Given the description of an element on the screen output the (x, y) to click on. 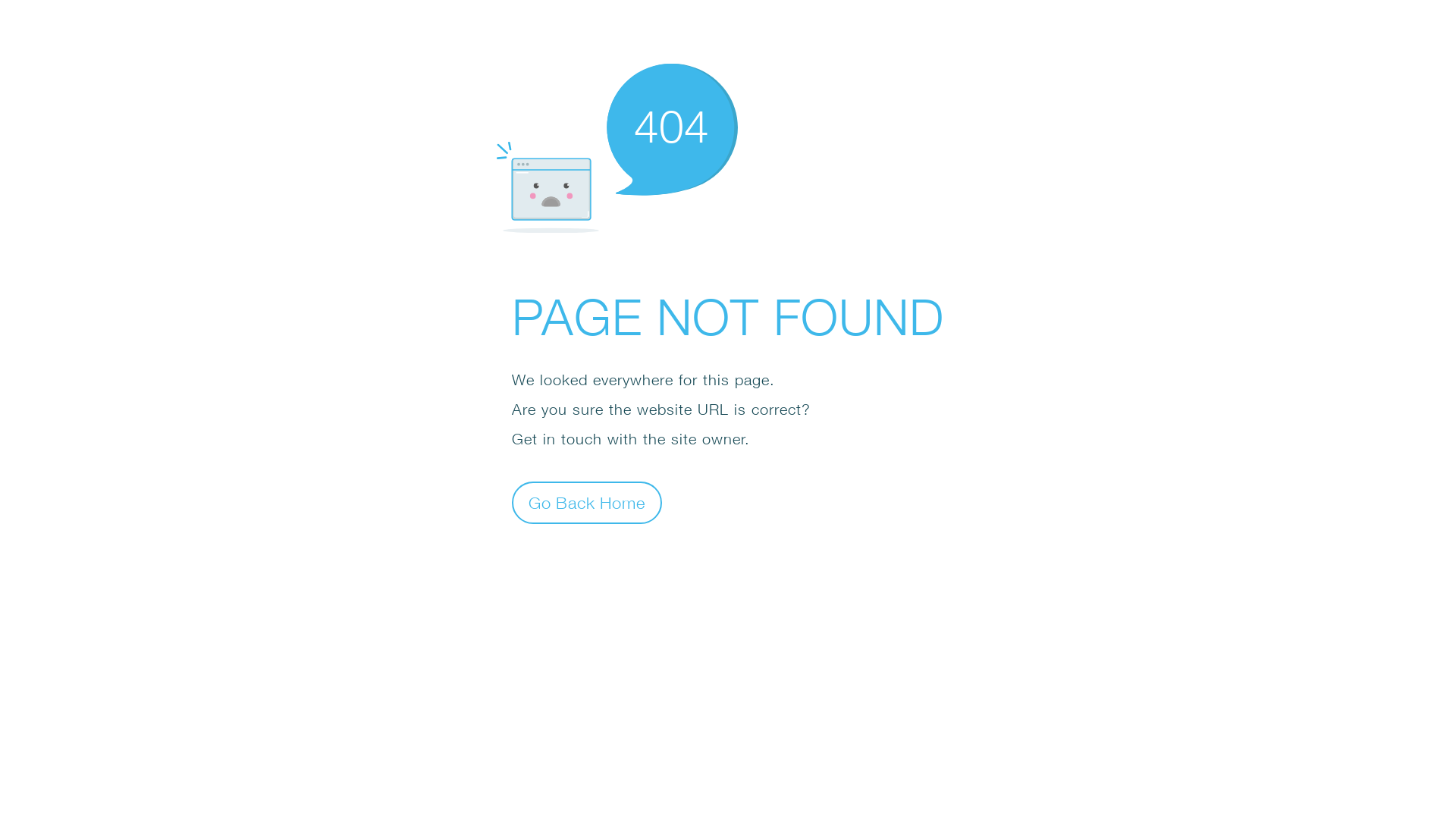
Go Back Home Element type: text (586, 502)
